Given the description of an element on the screen output the (x, y) to click on. 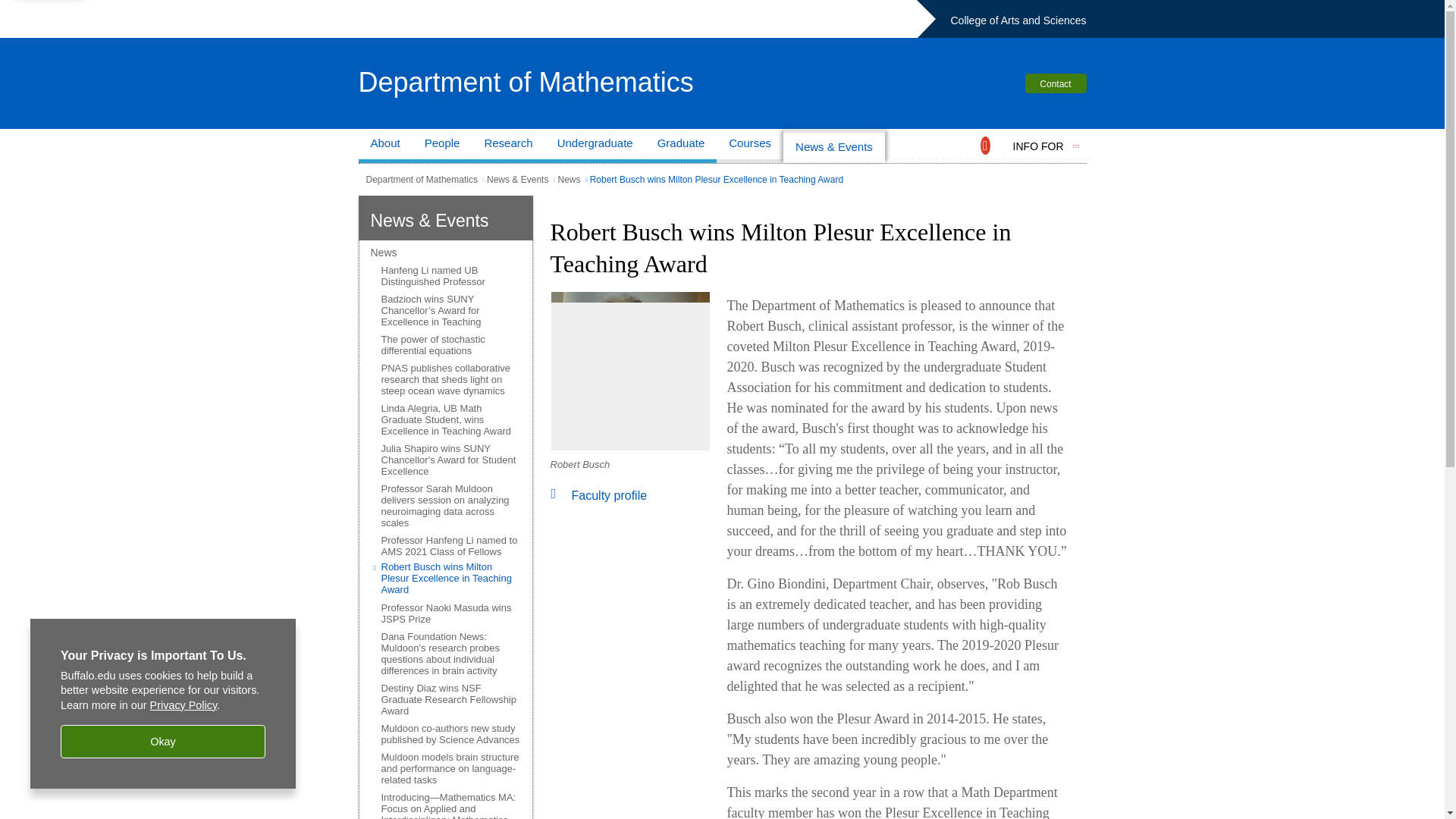
Department of Mathematics (421, 179)
Undergraduate (594, 145)
College of Arts and Sciences (1018, 19)
Hanfeng Li named UB Distinguished Professor (450, 275)
News (445, 252)
Department of Mathematics (525, 81)
About (385, 145)
Courses (749, 145)
News (568, 179)
